Given the description of an element on the screen output the (x, y) to click on. 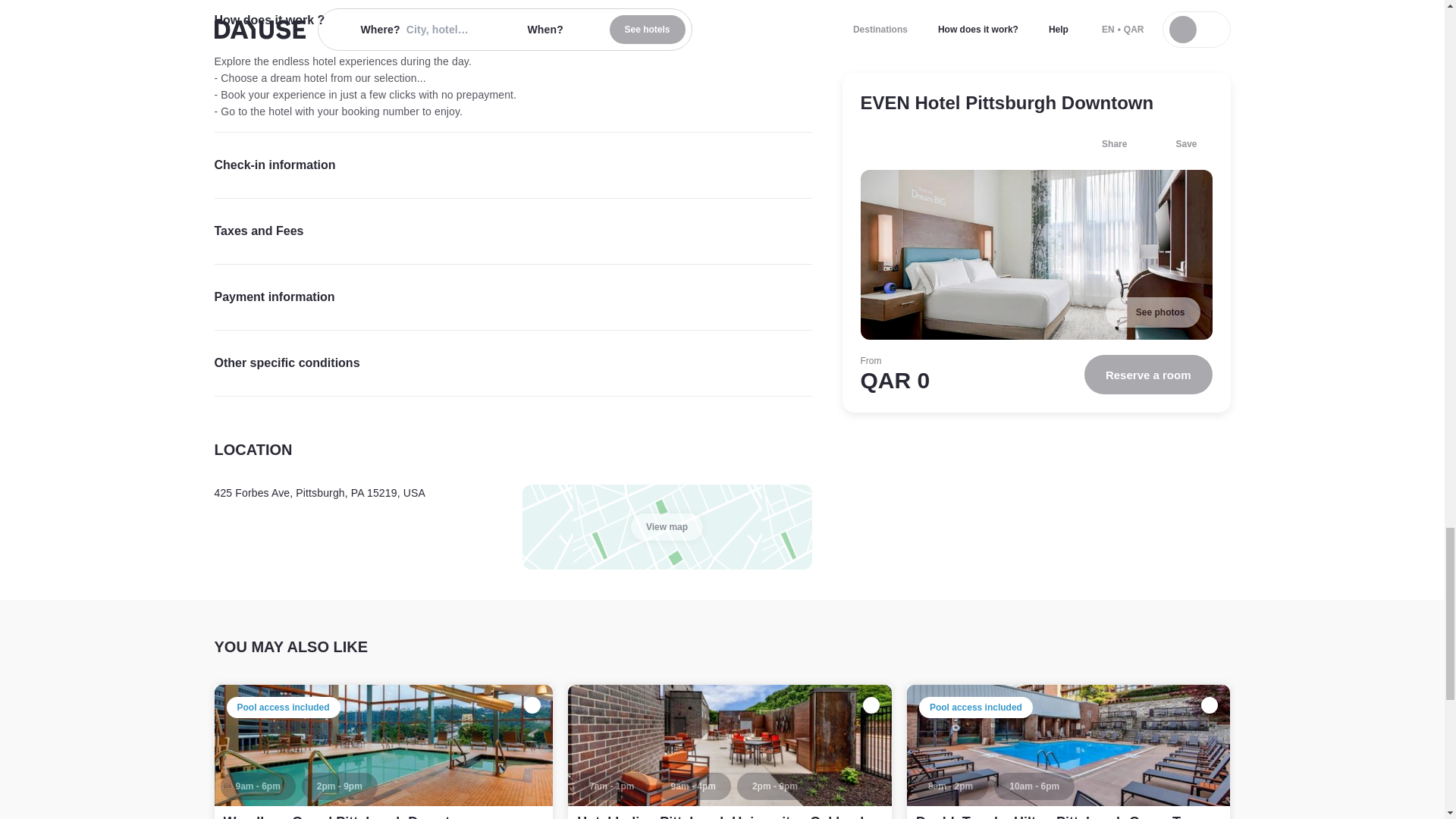
Hotel Indigo Pittsburgh University - Oakland (719, 816)
DoubleTree by Hilton Pittsburgh-Green Tree (1057, 816)
Wyndham Grand Pittsburgh Downtown (383, 751)
Wyndham Grand Pittsburgh Downtown (349, 816)
Hotel Indigo Pittsburgh University - Oakland (729, 751)
DoubleTree by Hilton Pittsburgh-Green Tree (1068, 751)
